Given the description of an element on the screen output the (x, y) to click on. 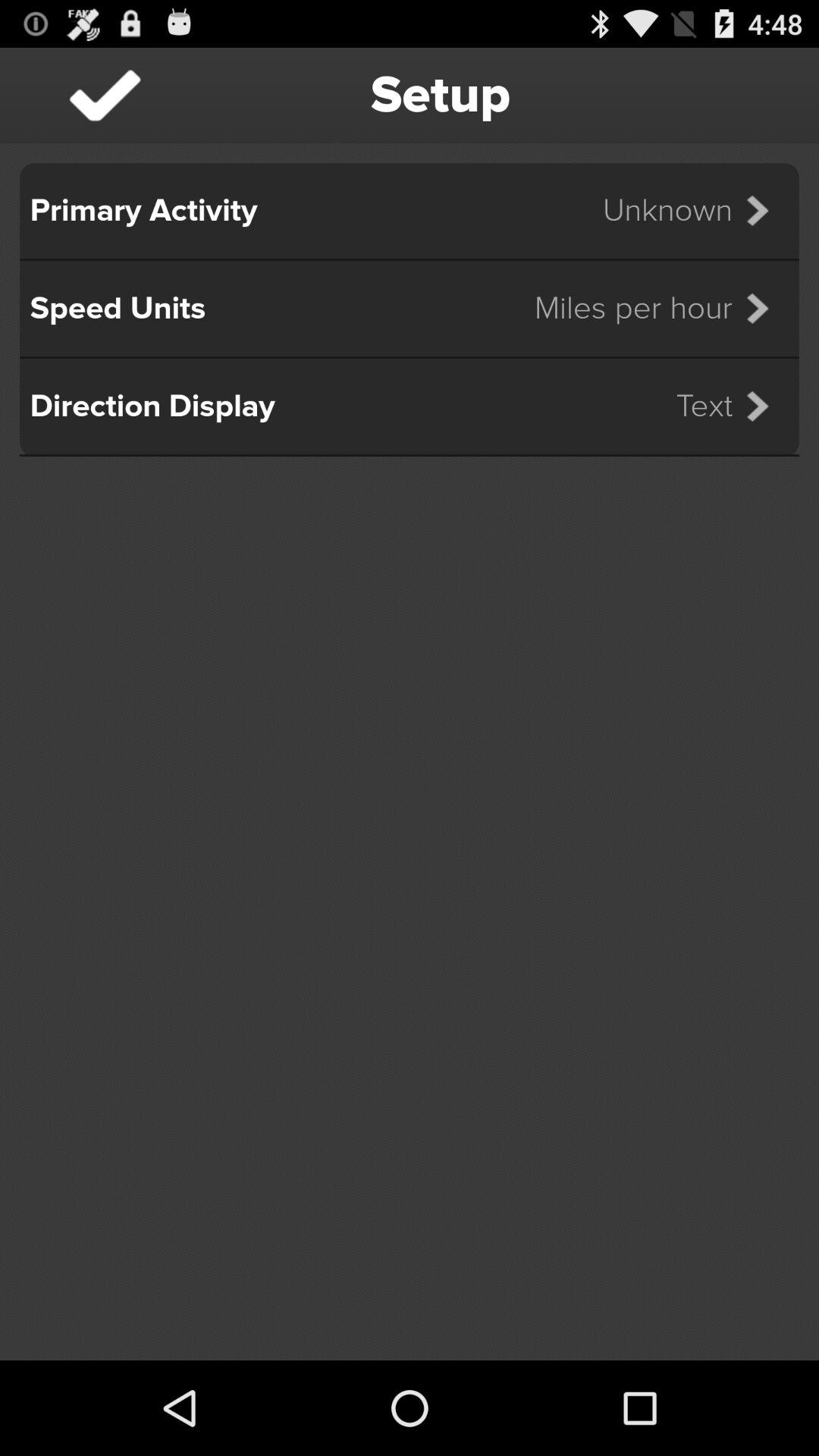
turn off the icon next to speed units icon (661, 308)
